Given the description of an element on the screen output the (x, y) to click on. 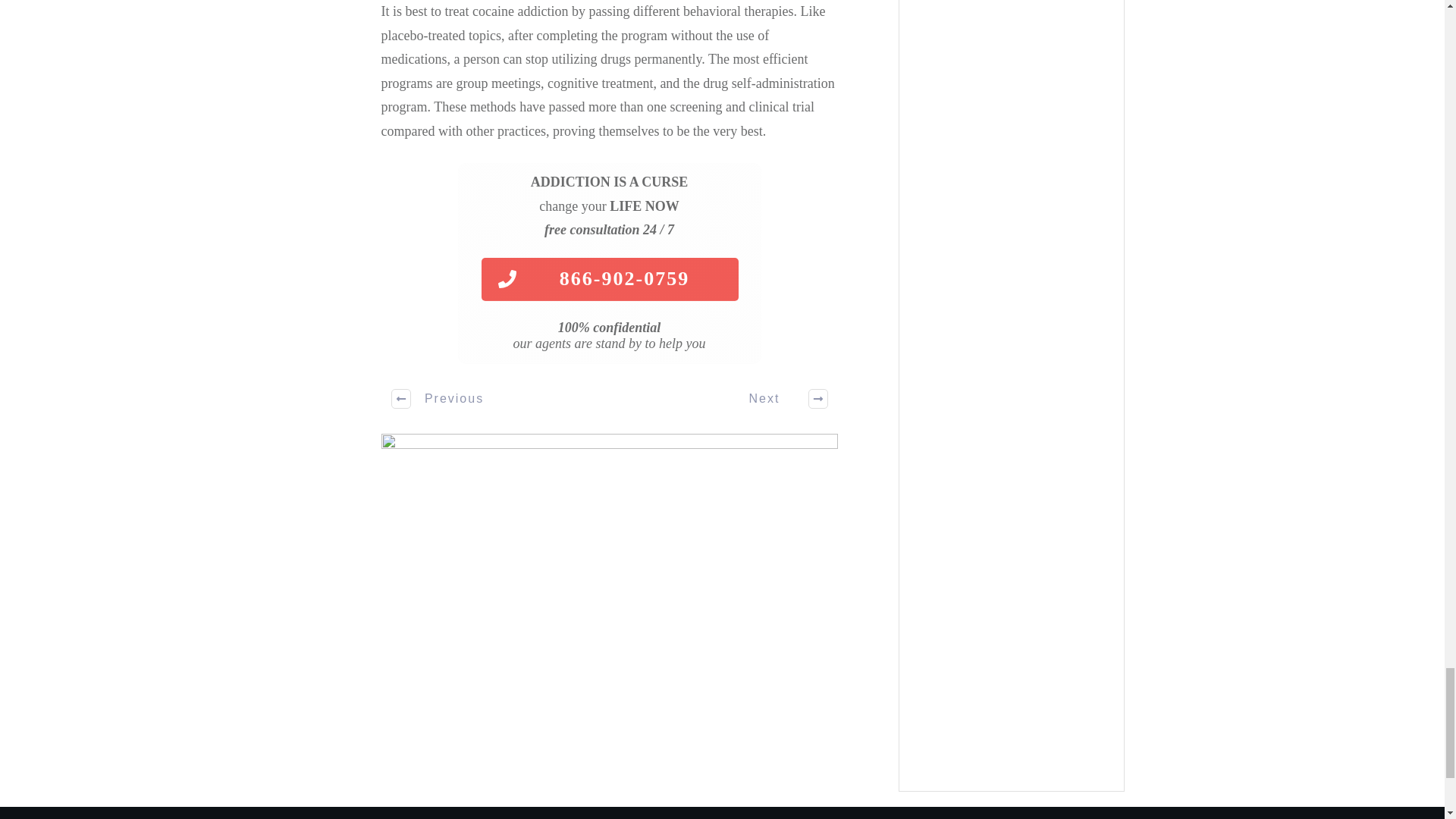
Previous (438, 398)
Next (780, 398)
866-902-0759 (609, 279)
